Given the description of an element on the screen output the (x, y) to click on. 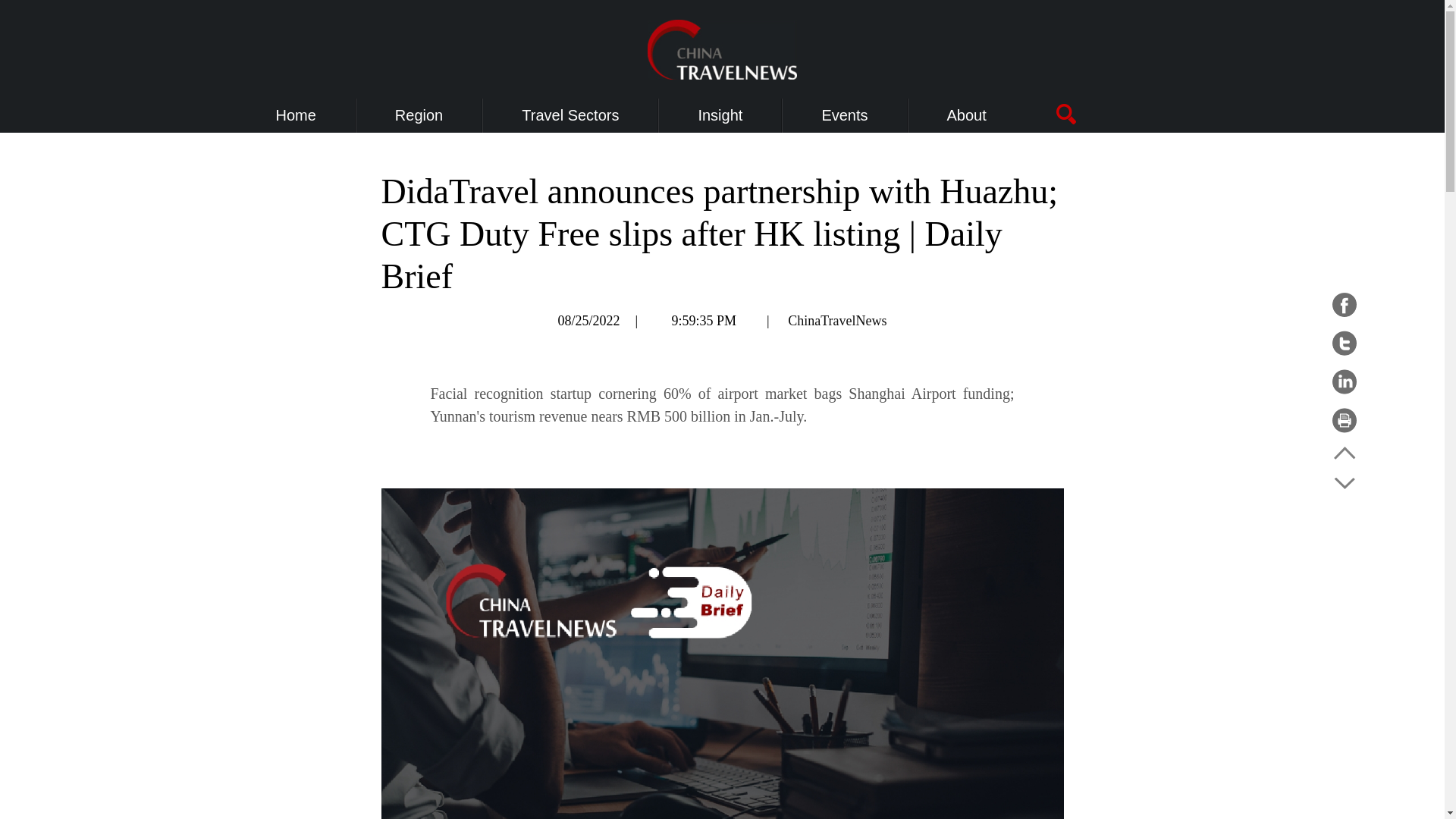
About (967, 115)
Home (295, 115)
ChinaTravelNews (836, 320)
Events (844, 115)
